Given the description of an element on the screen output the (x, y) to click on. 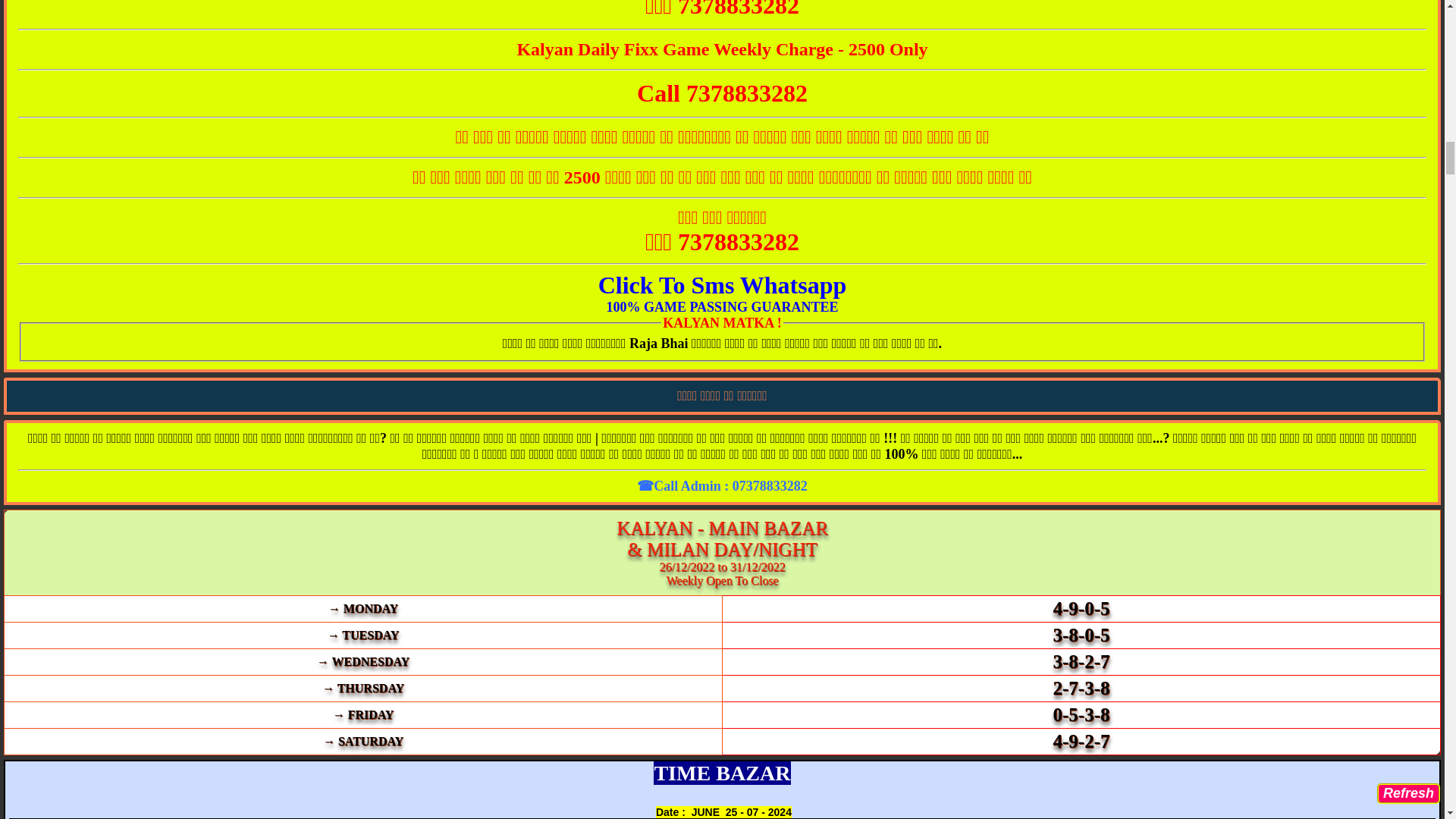
Call Satta Matka (722, 245)
Call Satta Matka (722, 8)
Click To Sms Whatsapp (722, 288)
Call 7378833282 (722, 95)
Call Satta Matka (722, 95)
